Given the description of an element on the screen output the (x, y) to click on. 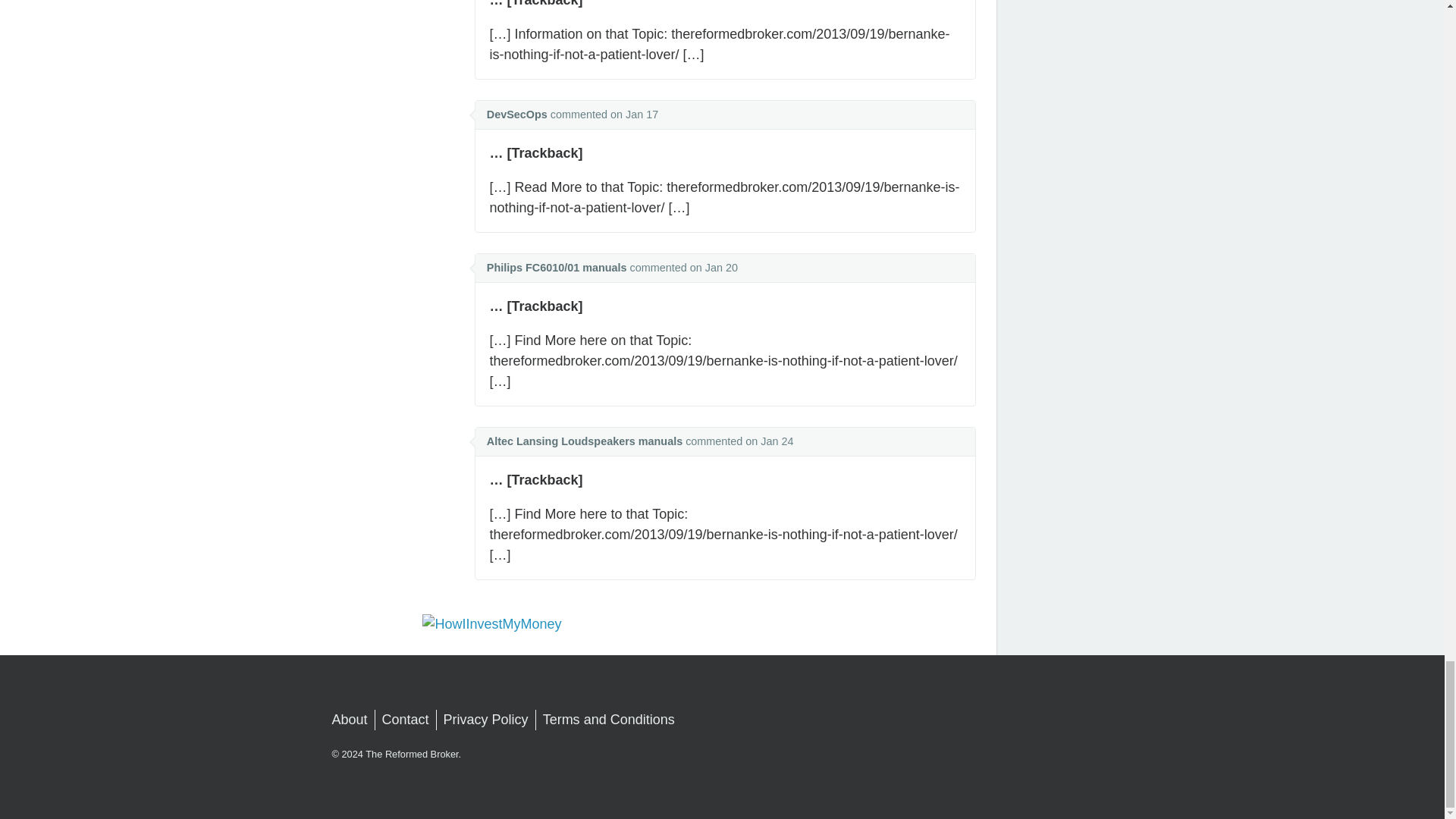
DevSecOps (516, 114)
